Given the description of an element on the screen output the (x, y) to click on. 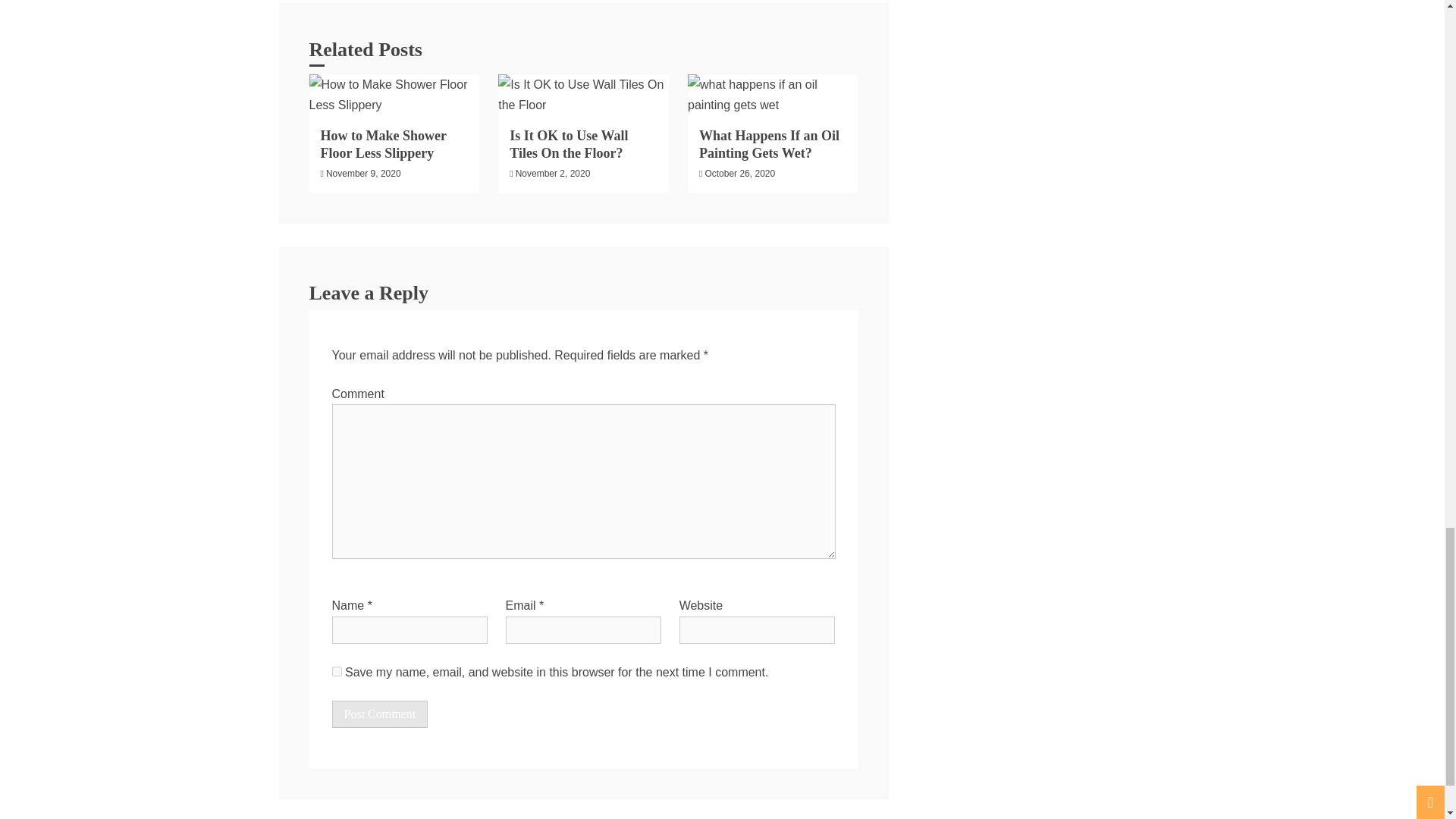
What Happens If an Oil Painting Gets Wet? (769, 143)
October 26, 2020 (739, 173)
Post Comment (379, 714)
Is It OK to Use Wall Tiles On the Floor? (568, 143)
November 2, 2020 (553, 173)
Post Comment (379, 714)
yes (336, 671)
November 9, 2020 (363, 173)
How to Make Shower Floor Less Slippery (382, 143)
